Given the description of an element on the screen output the (x, y) to click on. 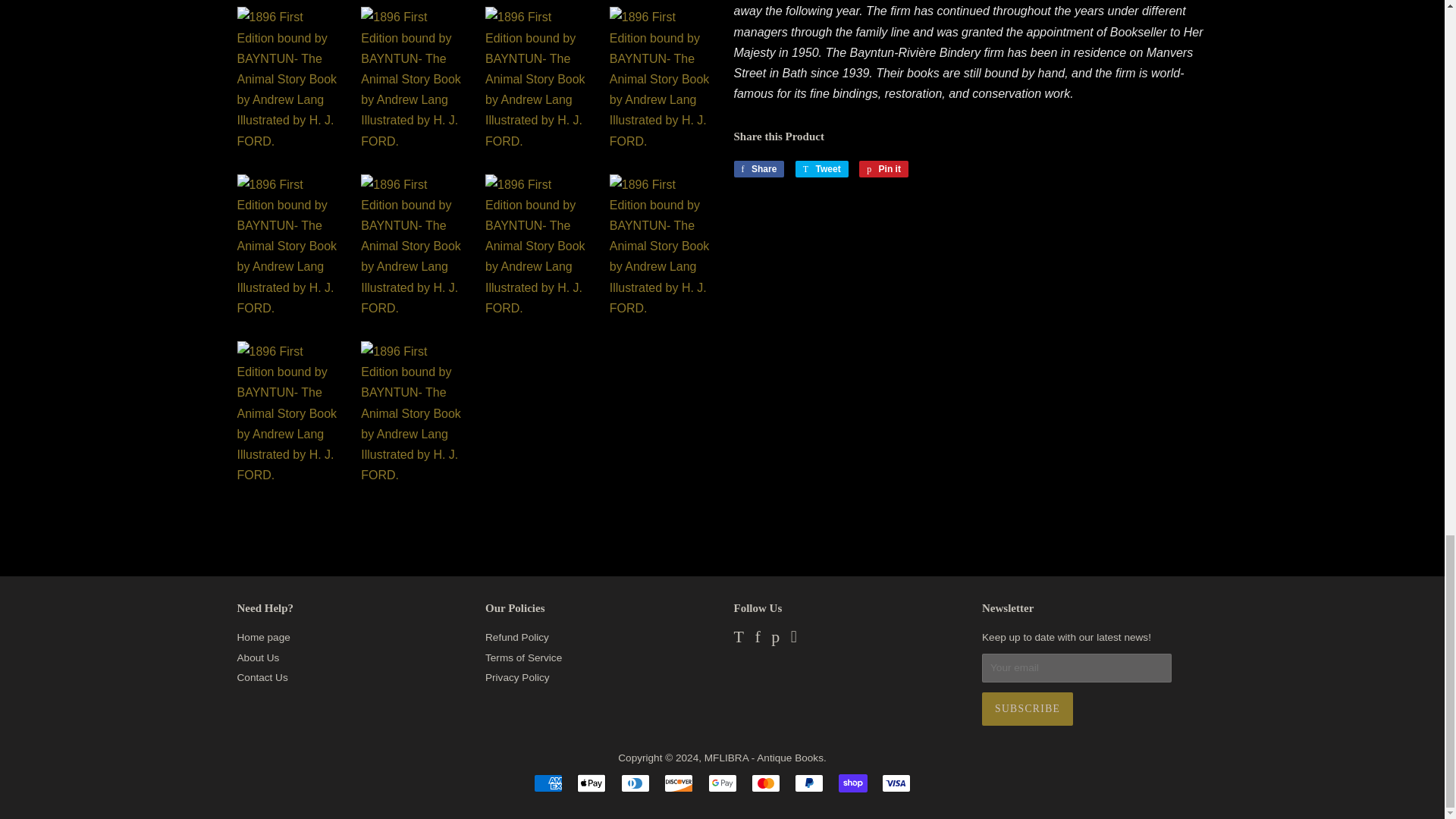
Apple Pay (590, 782)
PayPal (809, 782)
Share on Facebook (758, 168)
Discover (678, 782)
Mastercard (765, 782)
Subscribe (1027, 708)
American Express (548, 782)
Tweet on Twitter (821, 168)
Shop Pay (852, 782)
Visa (896, 782)
Pin on Pinterest (883, 168)
Google Pay (721, 782)
Diners Club (635, 782)
